Given the description of an element on the screen output the (x, y) to click on. 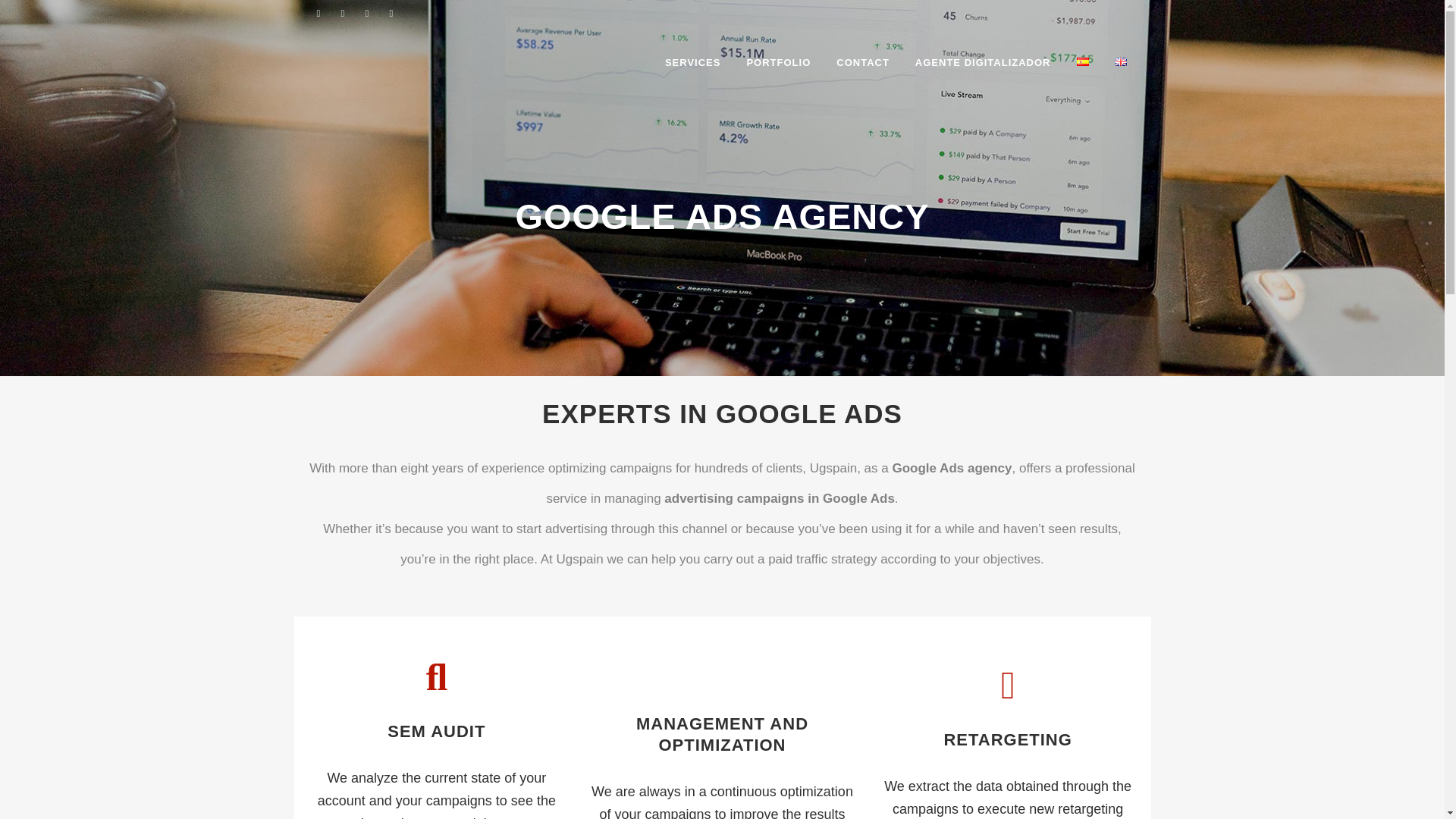
AGENTE DIGITALIZADOR (983, 62)
CONTACT (863, 62)
PORTFOLIO (778, 62)
SERVICES (692, 62)
